Given the description of an element on the screen output the (x, y) to click on. 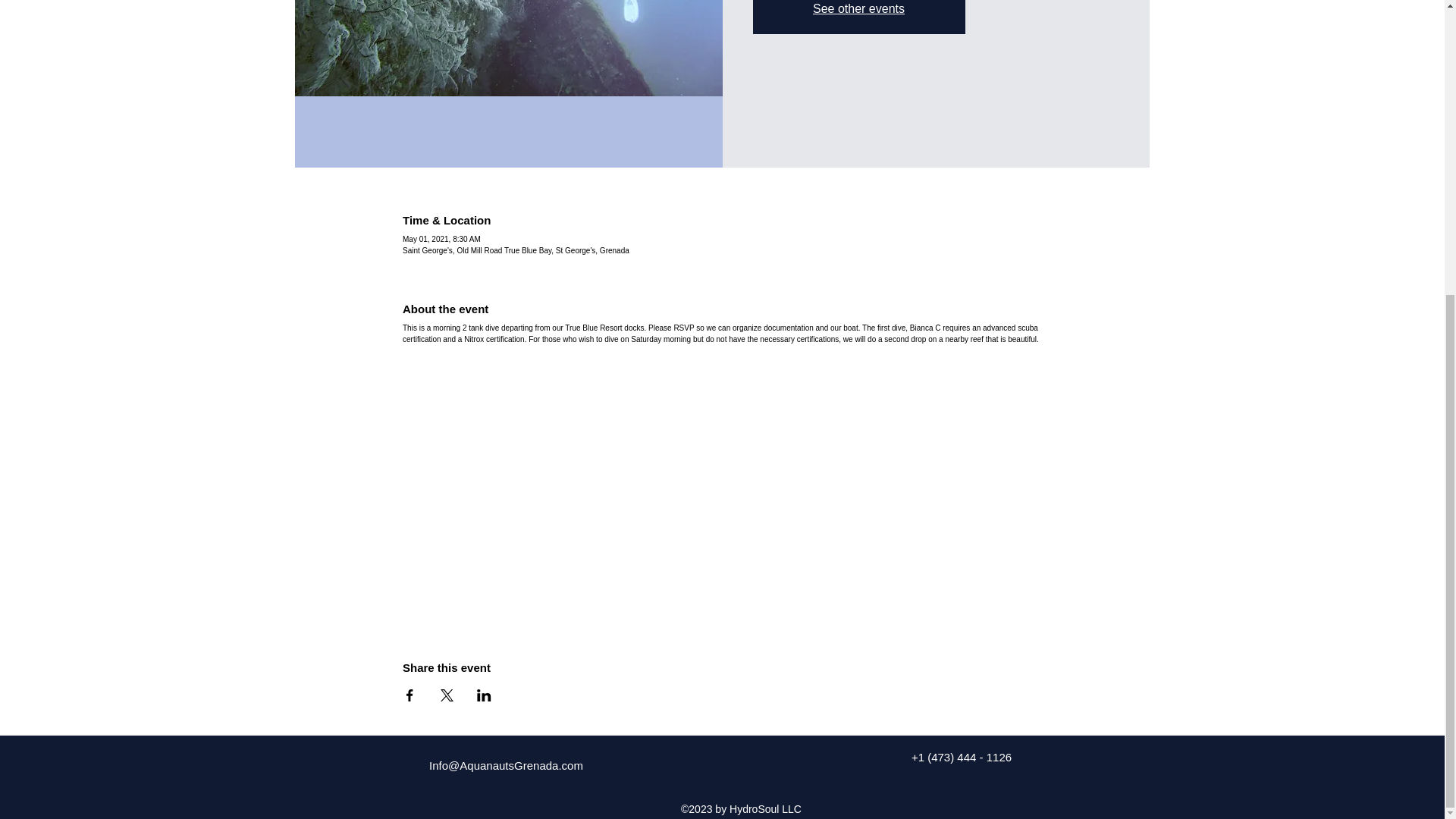
See other events (858, 8)
